Given the description of an element on the screen output the (x, y) to click on. 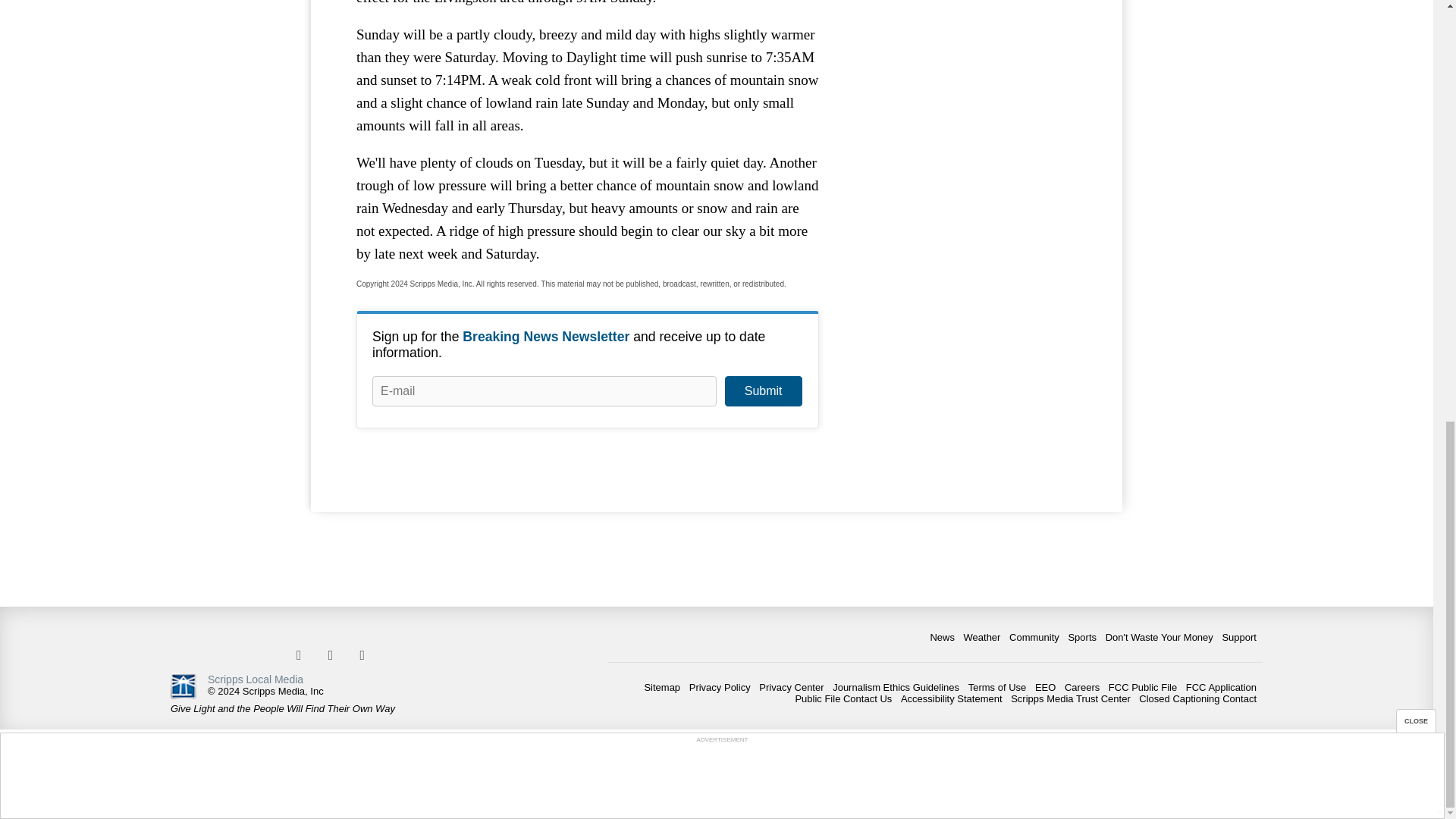
Submit (763, 390)
